Given the description of an element on the screen output the (x, y) to click on. 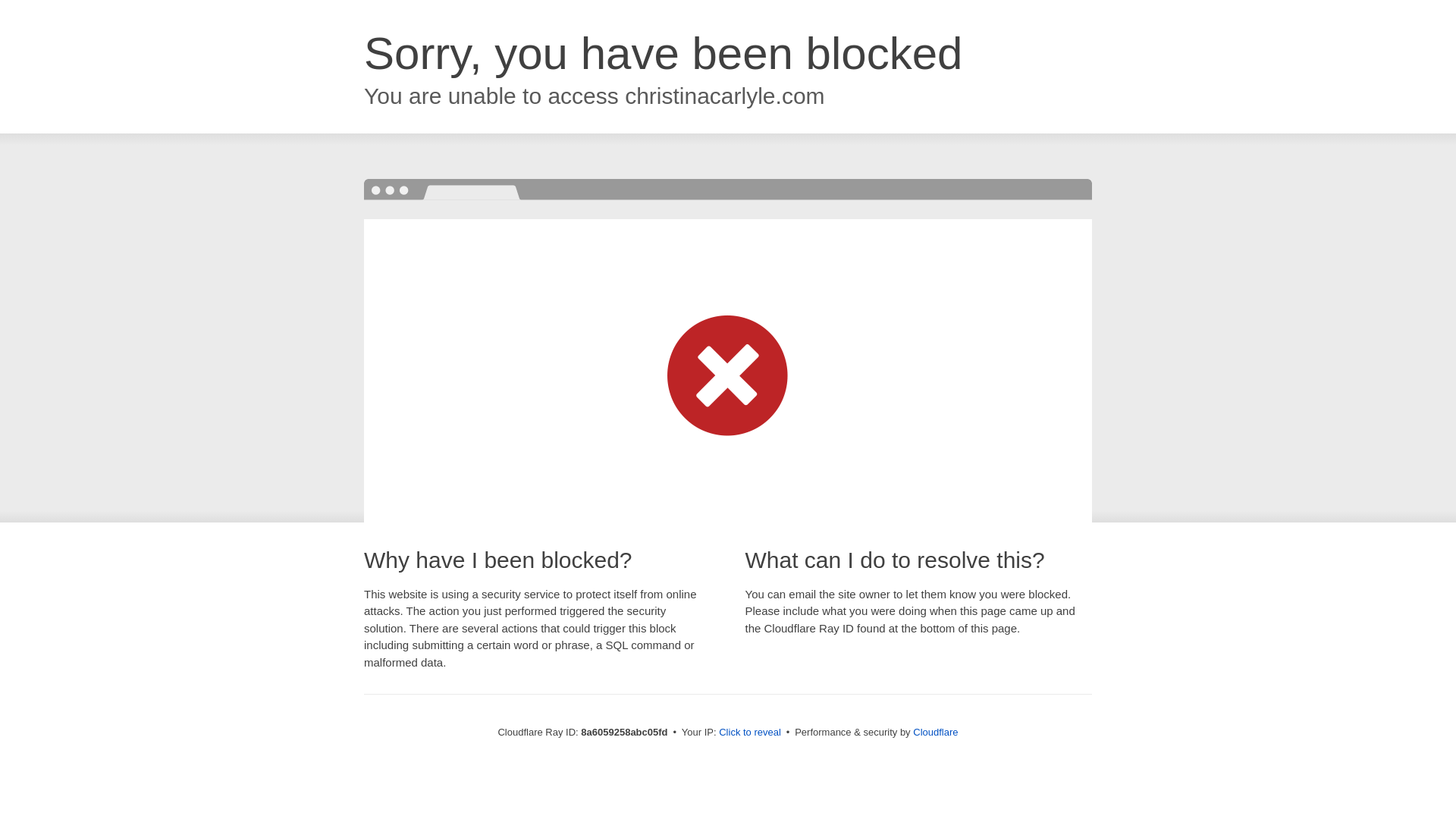
Cloudflare (935, 731)
Click to reveal (749, 732)
